Given the description of an element on the screen output the (x, y) to click on. 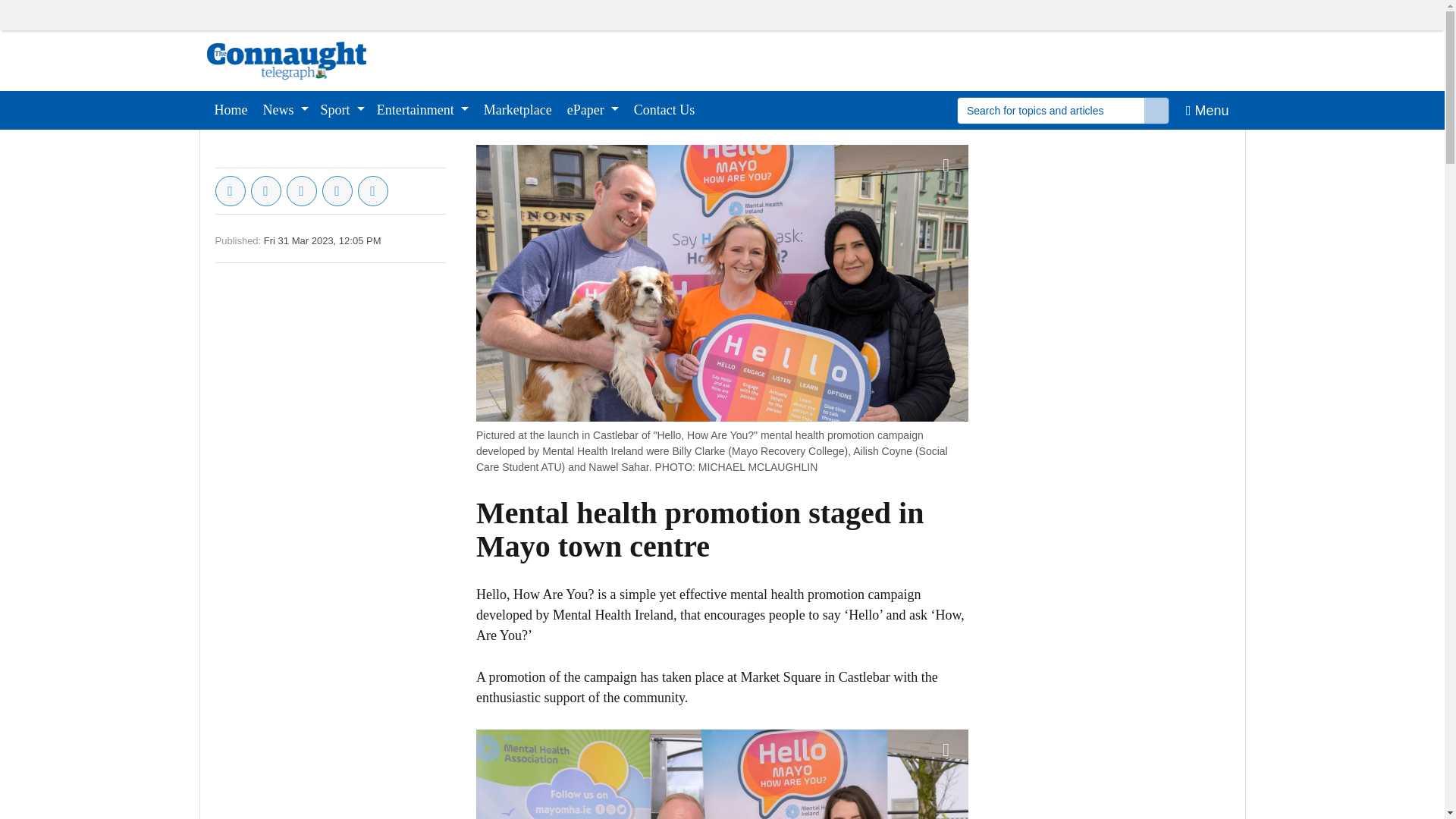
ePaper (592, 109)
Sport (342, 109)
News (285, 109)
Menu (1207, 109)
Entertainment (422, 109)
